Given the description of an element on the screen output the (x, y) to click on. 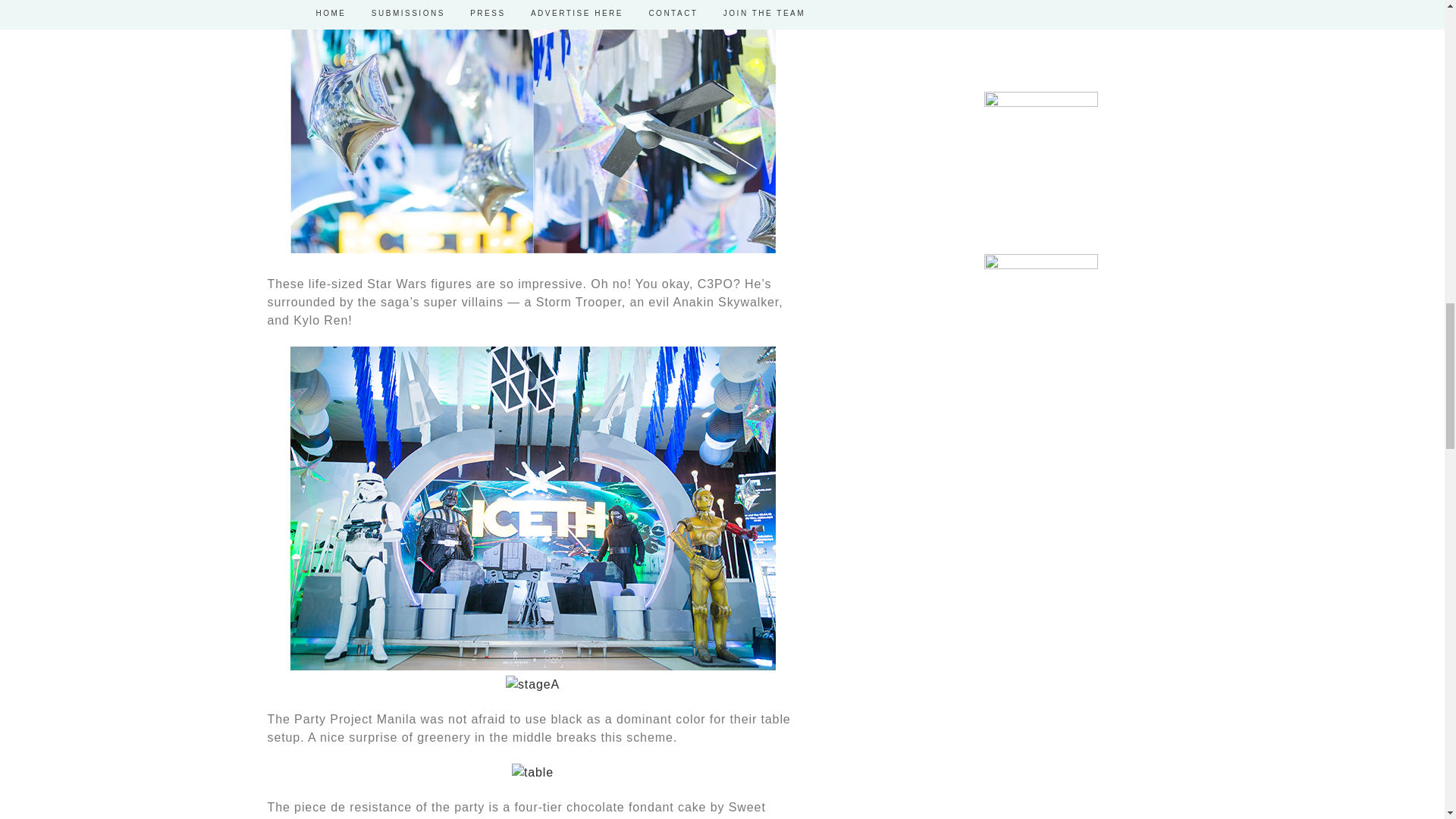
stage (531, 666)
stageA (532, 684)
ceilingA (531, 248)
table (532, 771)
